Given the description of an element on the screen output the (x, y) to click on. 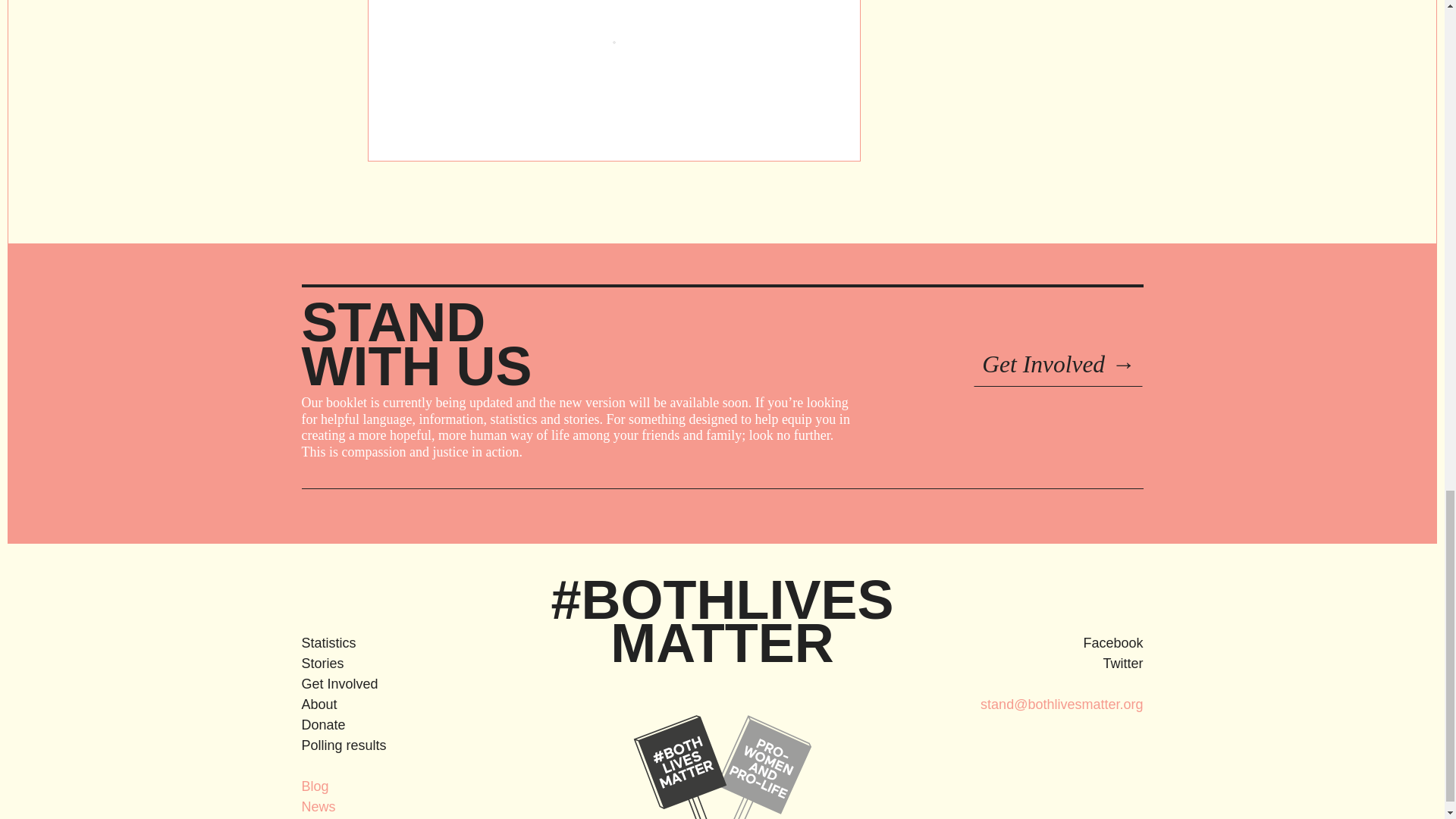
Get Involved (398, 684)
Stories (398, 663)
Polling results (398, 745)
Twitter (1045, 663)
Statistics (398, 643)
Blog (398, 786)
Facebook (1045, 643)
About (398, 704)
Donate (398, 724)
News (398, 806)
